Given the description of an element on the screen output the (x, y) to click on. 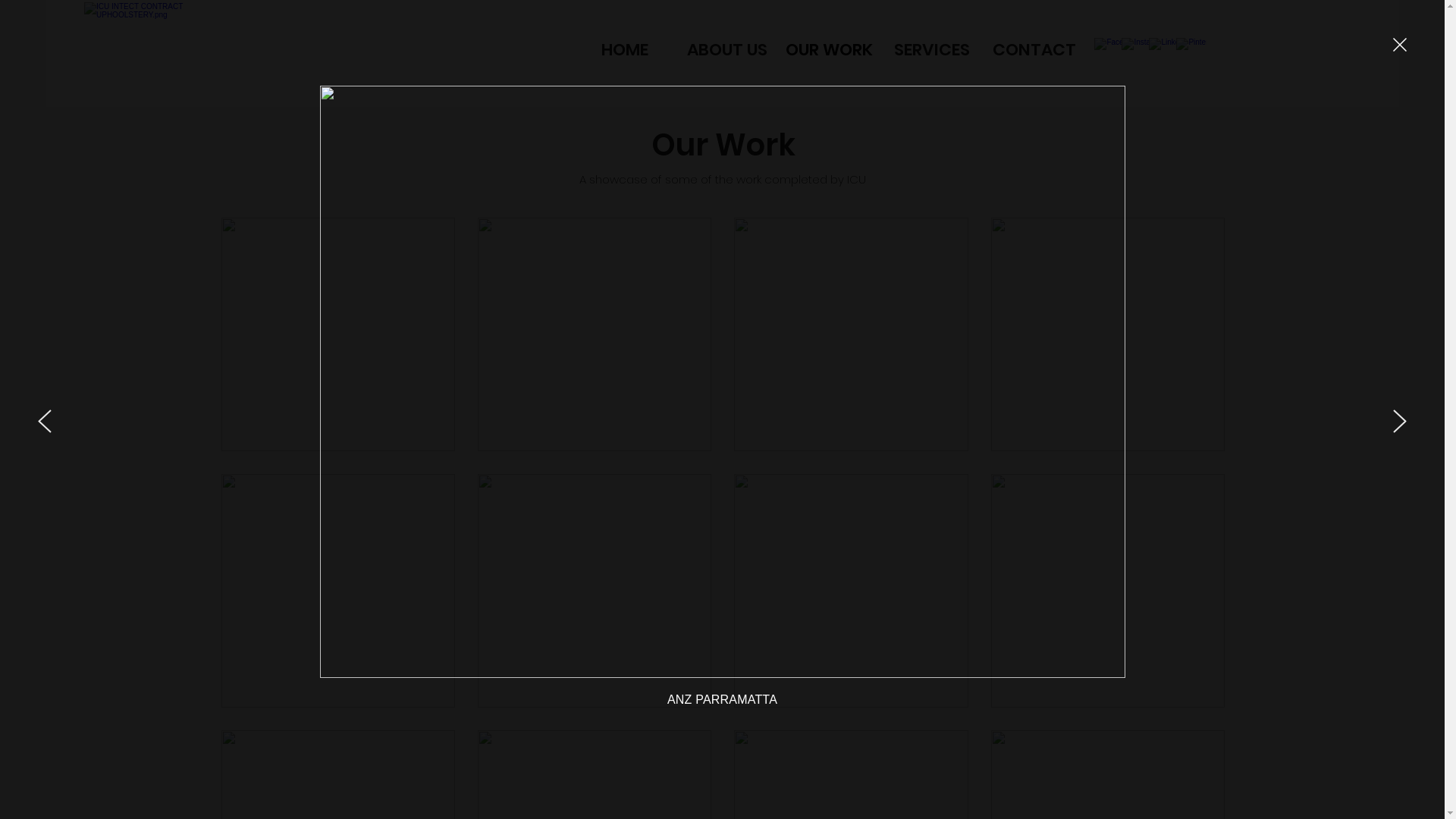
ABOUT US Element type: text (726, 49)
CONTACT Element type: text (1033, 49)
HOME Element type: text (624, 49)
SERVICES Element type: text (931, 49)
OUR WORK Element type: text (829, 49)
